Given the description of an element on the screen output the (x, y) to click on. 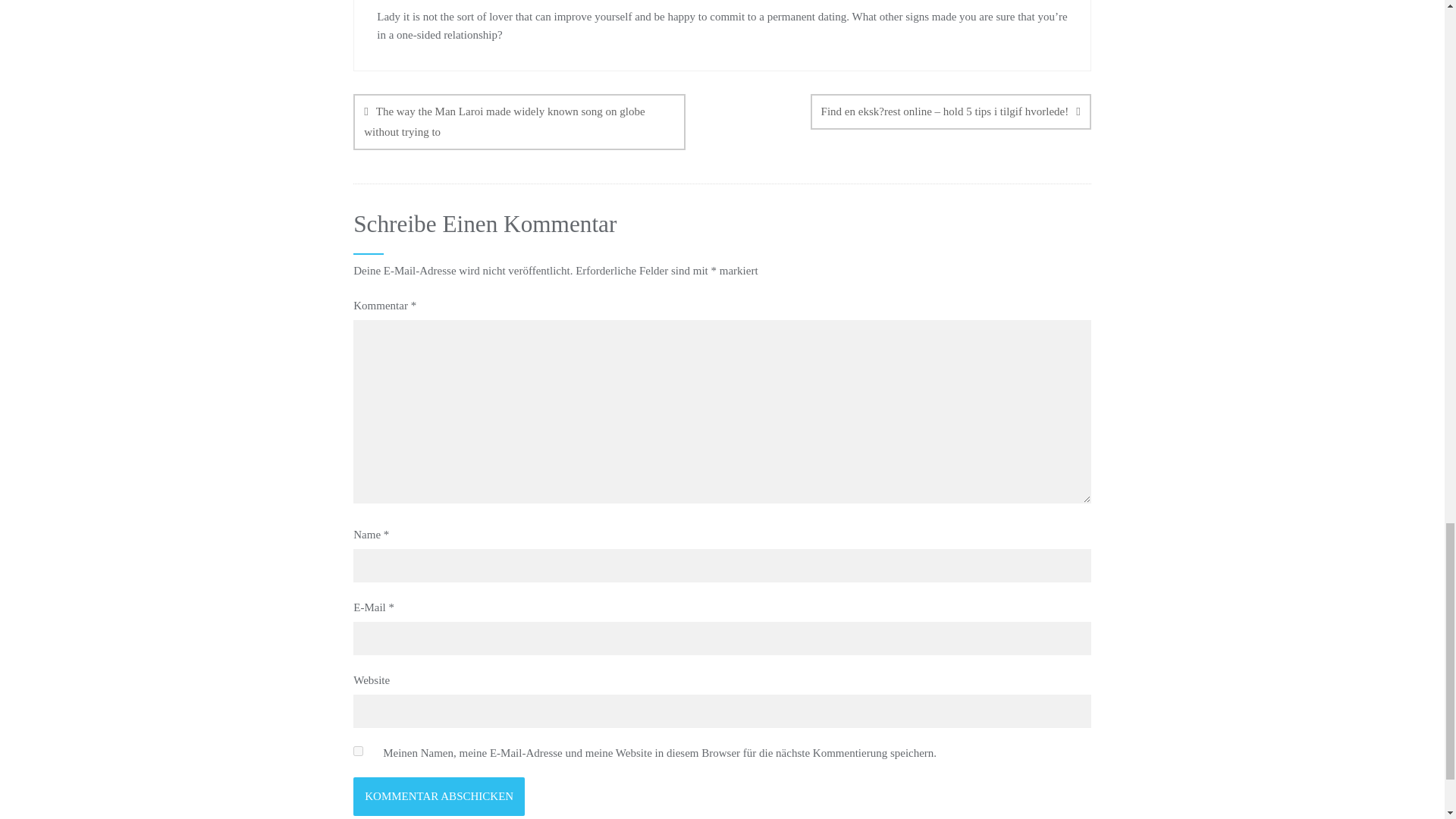
Kommentar abschicken (438, 796)
yes (357, 750)
Kommentar abschicken (438, 796)
